Given the description of an element on the screen output the (x, y) to click on. 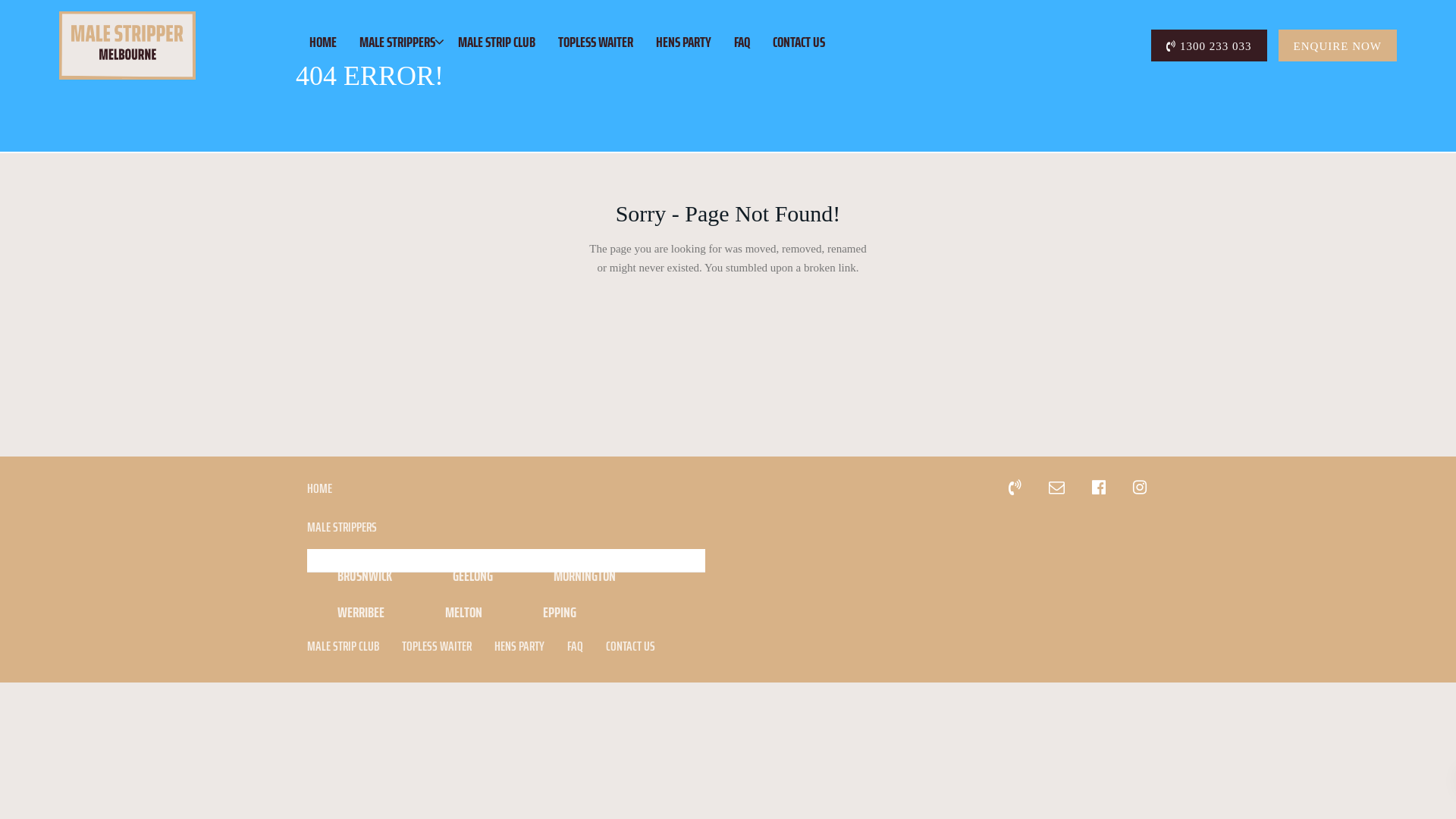
MORNINGTON Element type: text (584, 575)
CONTACT US Element type: text (630, 646)
MALE STRIP CLUB Element type: text (496, 41)
MELTON Element type: text (463, 611)
MALE STRIPPERS Element type: text (397, 41)
BRUSNWICK Element type: text (364, 575)
HOME Element type: text (319, 491)
1300 233 033 Element type: text (1208, 45)
FAQ Element type: text (741, 41)
MALE STRIP CLUB Element type: text (343, 649)
HENS PARTY Element type: text (519, 649)
EPPING Element type: text (559, 611)
WERRIBEE Element type: text (360, 611)
GEELONG Element type: text (472, 575)
TOPLESS WAITER Element type: text (595, 41)
ENQUIRE NOW Element type: text (1337, 45)
TOPLESS WAITER Element type: text (436, 649)
CONTACT US Element type: text (798, 41)
MALE STRIPPERS Element type: text (506, 529)
HOME Element type: text (322, 41)
HENS PARTY Element type: text (683, 41)
FAQ Element type: text (575, 649)
